Given the description of an element on the screen output the (x, y) to click on. 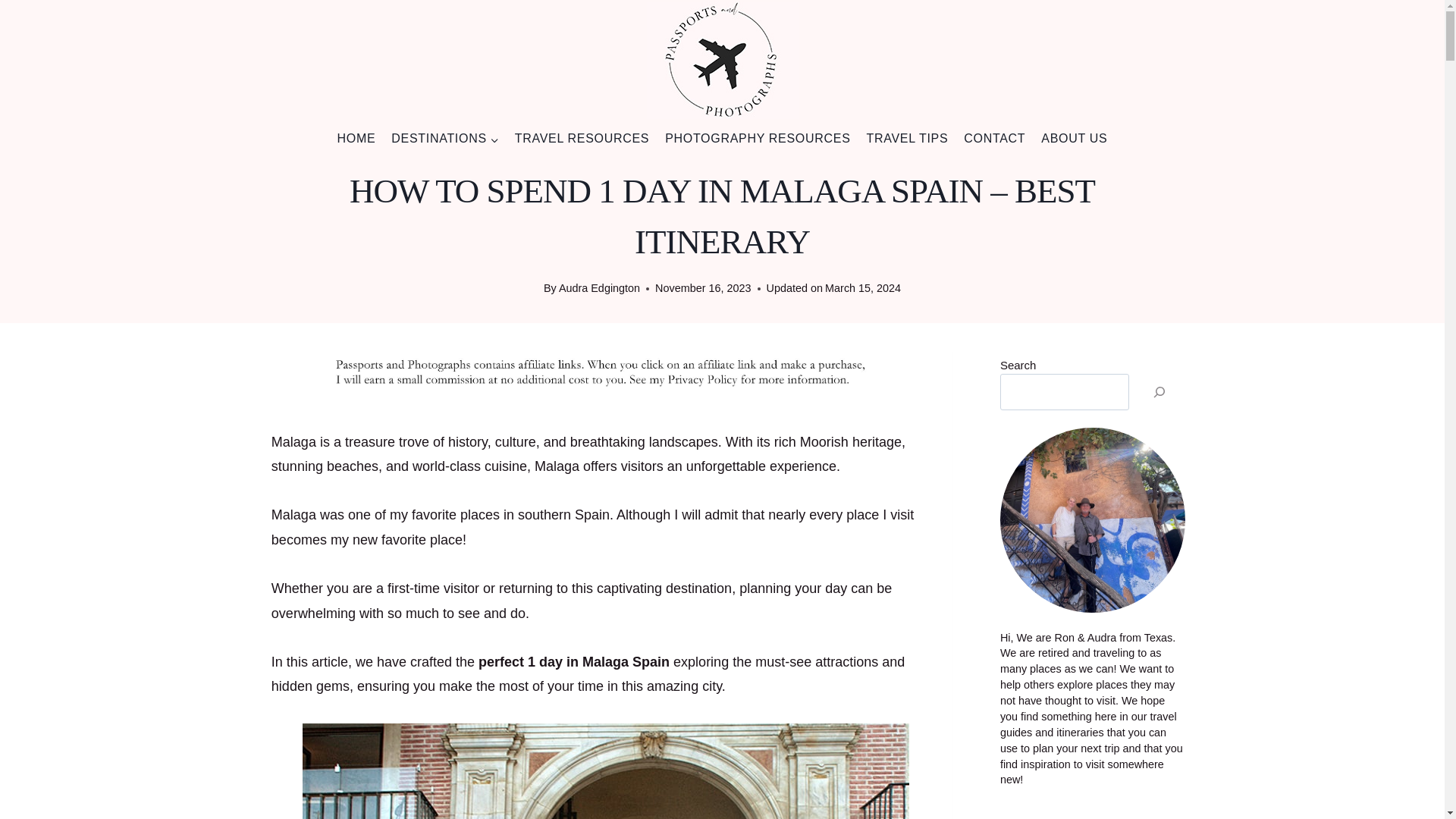
HOME (356, 139)
Audra Edgington (599, 287)
DESTINATIONS (445, 139)
PHOTOGRAPHY RESOURCES (758, 139)
TRAVEL TIPS (907, 139)
ABOUT US (1074, 139)
CONTACT (994, 139)
TRAVEL RESOURCES (581, 139)
